Given the description of an element on the screen output the (x, y) to click on. 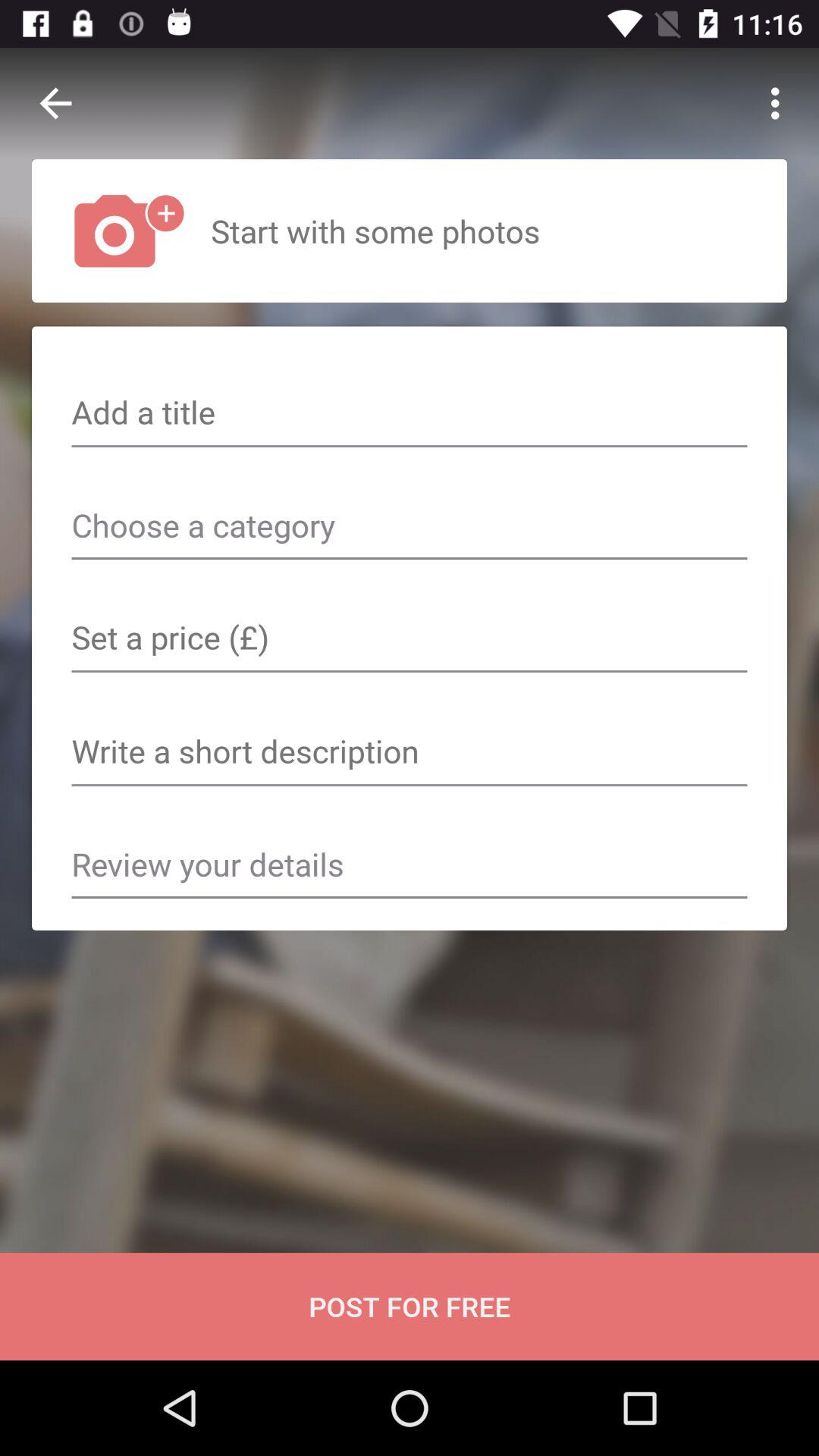
space to write a short description (409, 752)
